Given the description of an element on the screen output the (x, y) to click on. 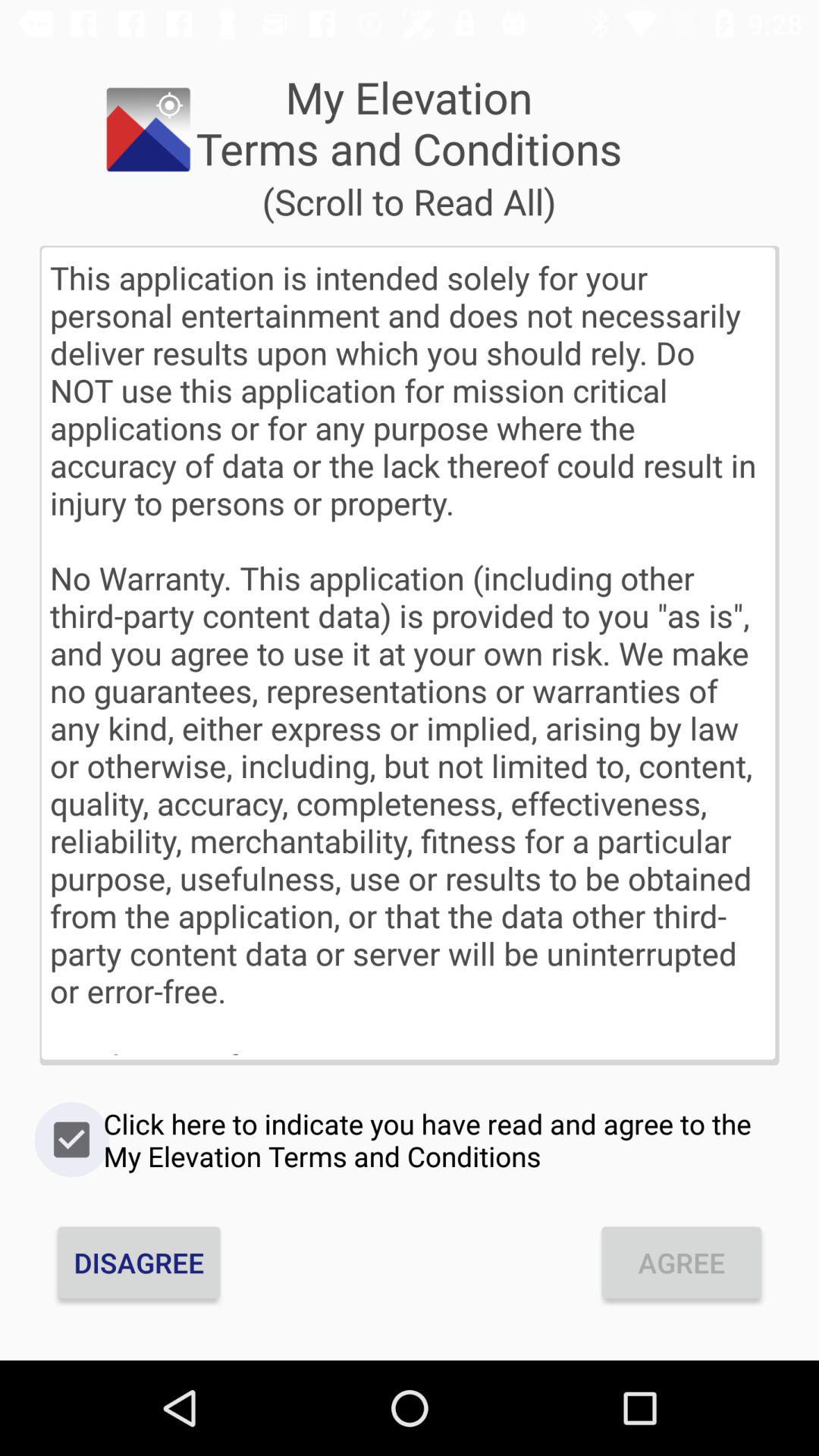
turn off disagree at the bottom left corner (139, 1262)
